Given the description of an element on the screen output the (x, y) to click on. 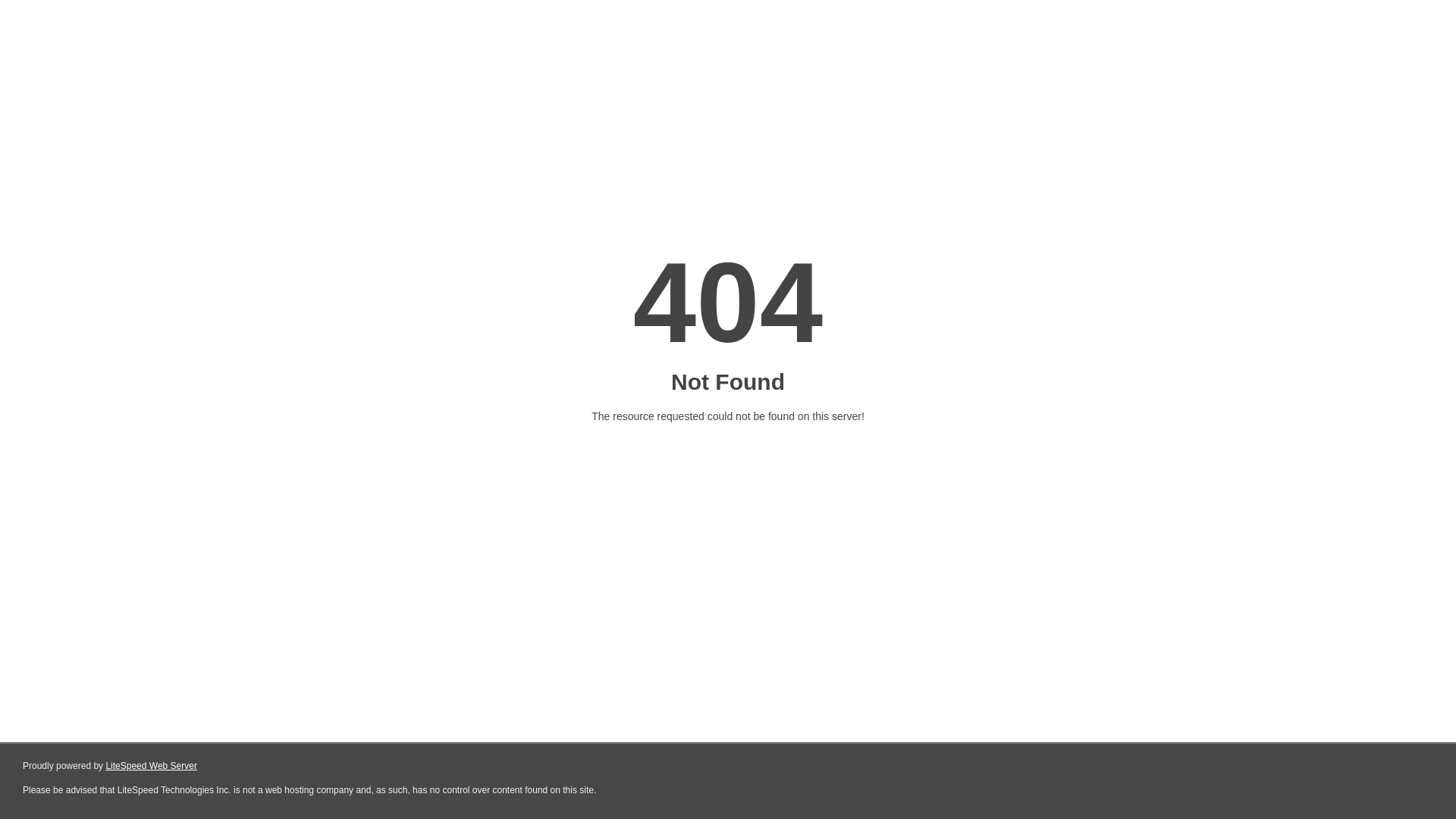
LiteSpeed Web Server Element type: text (151, 765)
